Given the description of an element on the screen output the (x, y) to click on. 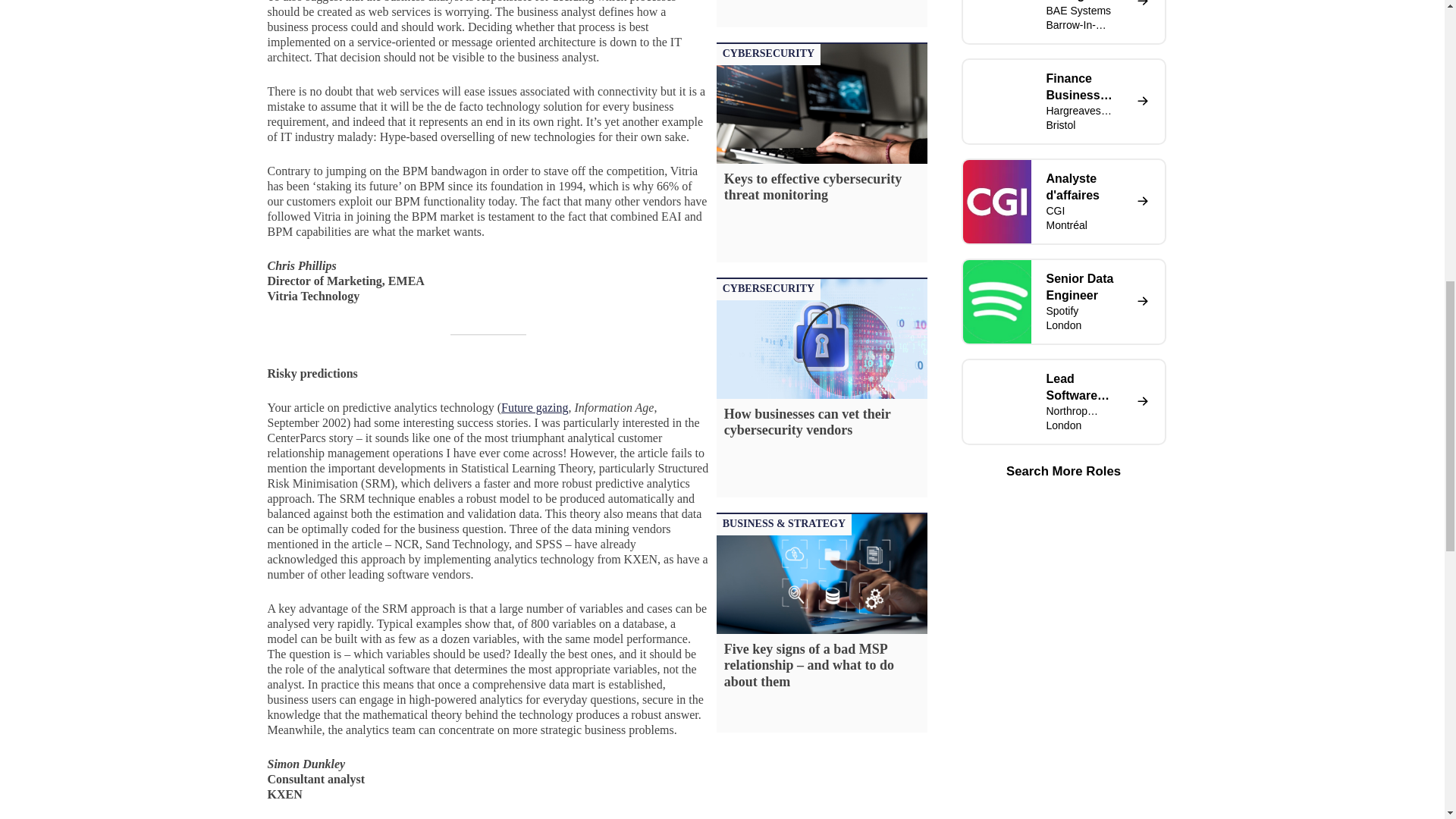
3rd party ad content (1249, 5)
3rd party ad content (195, 5)
